Given the description of an element on the screen output the (x, y) to click on. 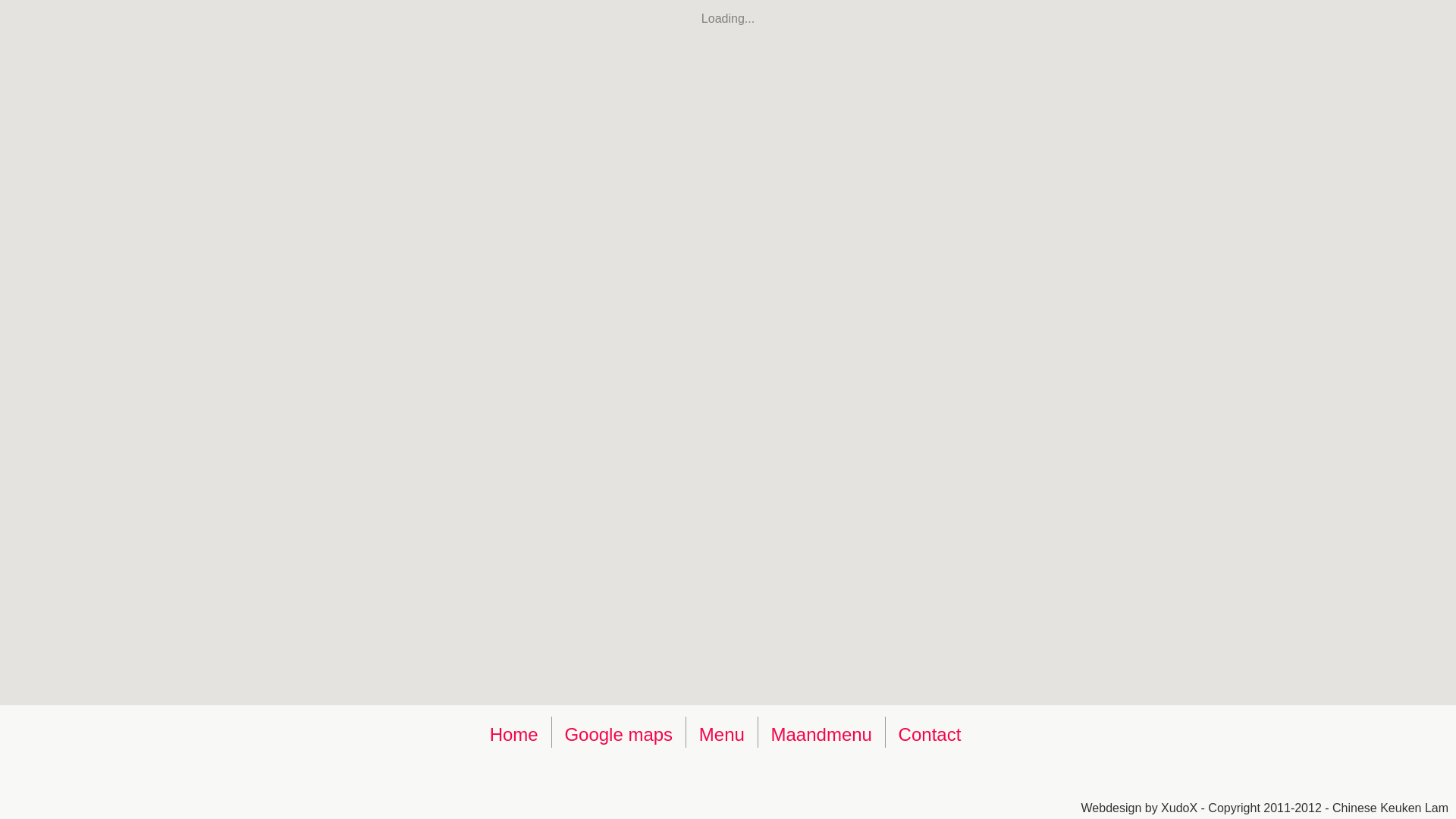
Contact Element type: text (929, 734)
Menu Element type: text (721, 734)
Home Element type: text (513, 734)
Google maps Element type: text (618, 734)
Maandmenu Element type: text (821, 734)
Webdesign by XudoX Element type: text (1139, 807)
